Given the description of an element on the screen output the (x, y) to click on. 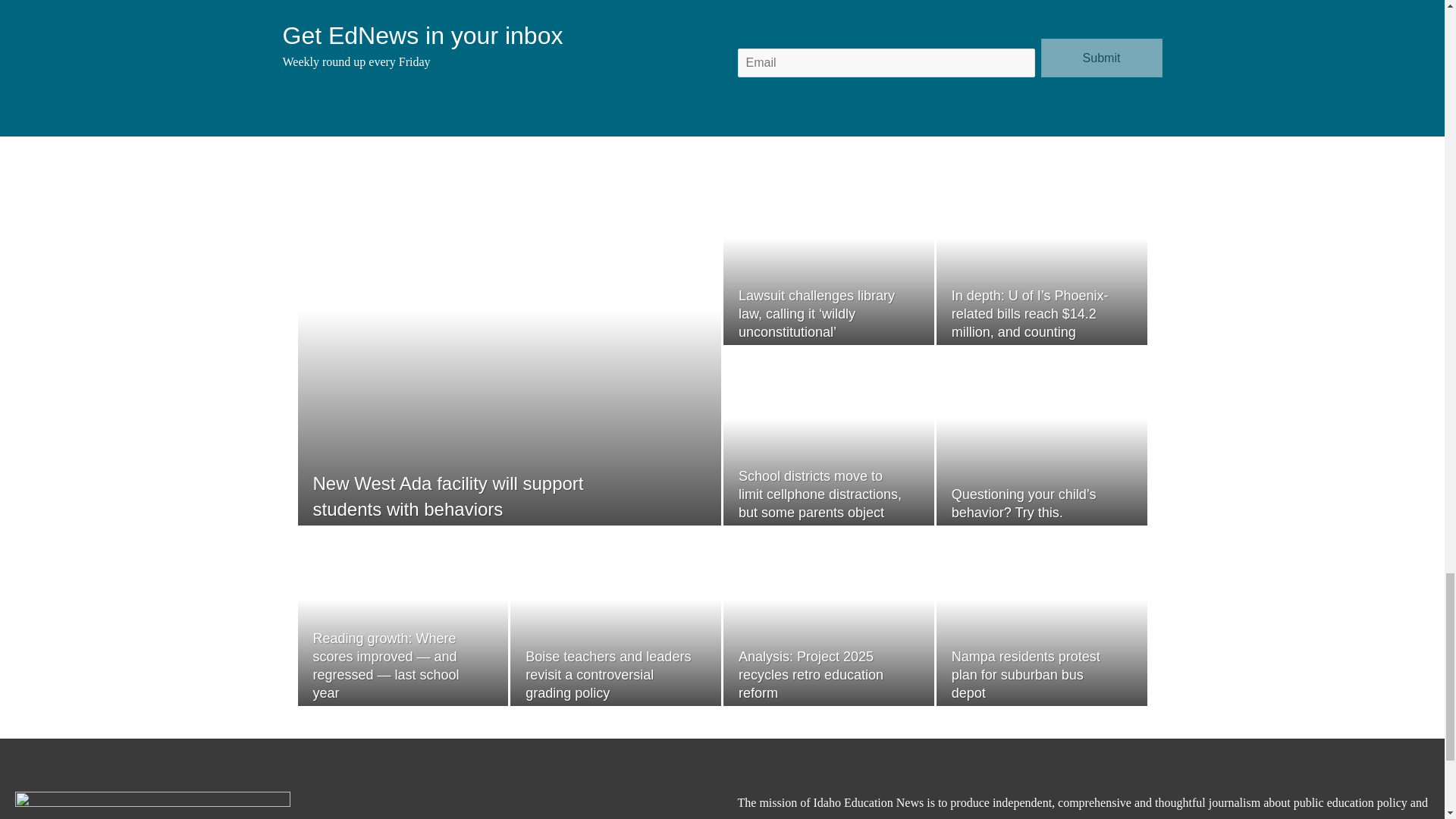
New West Ada facility will support students with behaviors (448, 496)
Analysis: Project 2025 recycles retro education reform (810, 675)
